Given the description of an element on the screen output the (x, y) to click on. 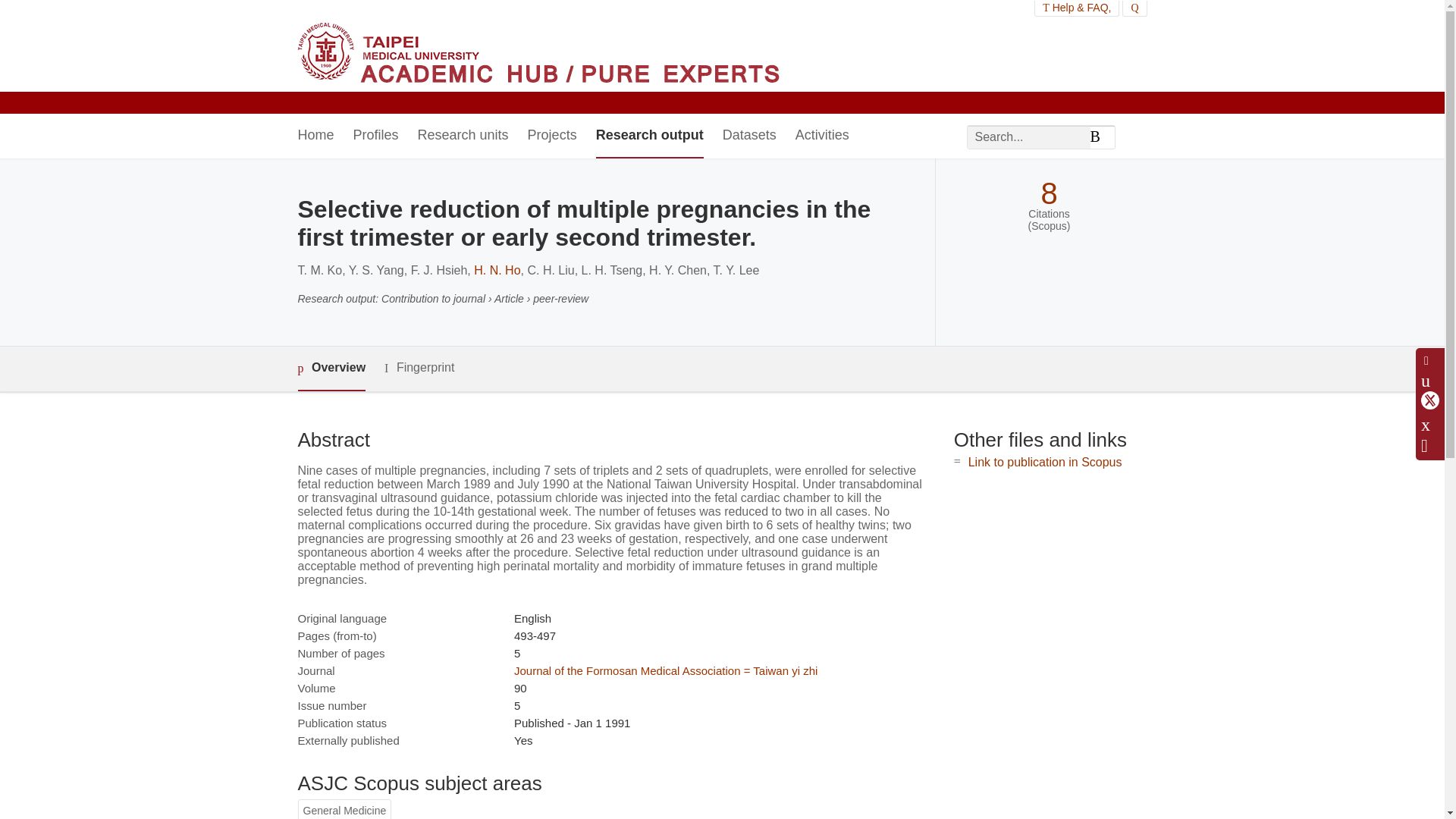
Research output (649, 135)
Link to publication in Scopus (1045, 461)
Activities (821, 135)
Profiles (375, 135)
Datasets (749, 135)
Overview (331, 368)
Fingerprint (419, 367)
Taipei Medical University Home (537, 56)
H. N. Ho (496, 269)
Projects (551, 135)
Research units (462, 135)
